Given the description of an element on the screen output the (x, y) to click on. 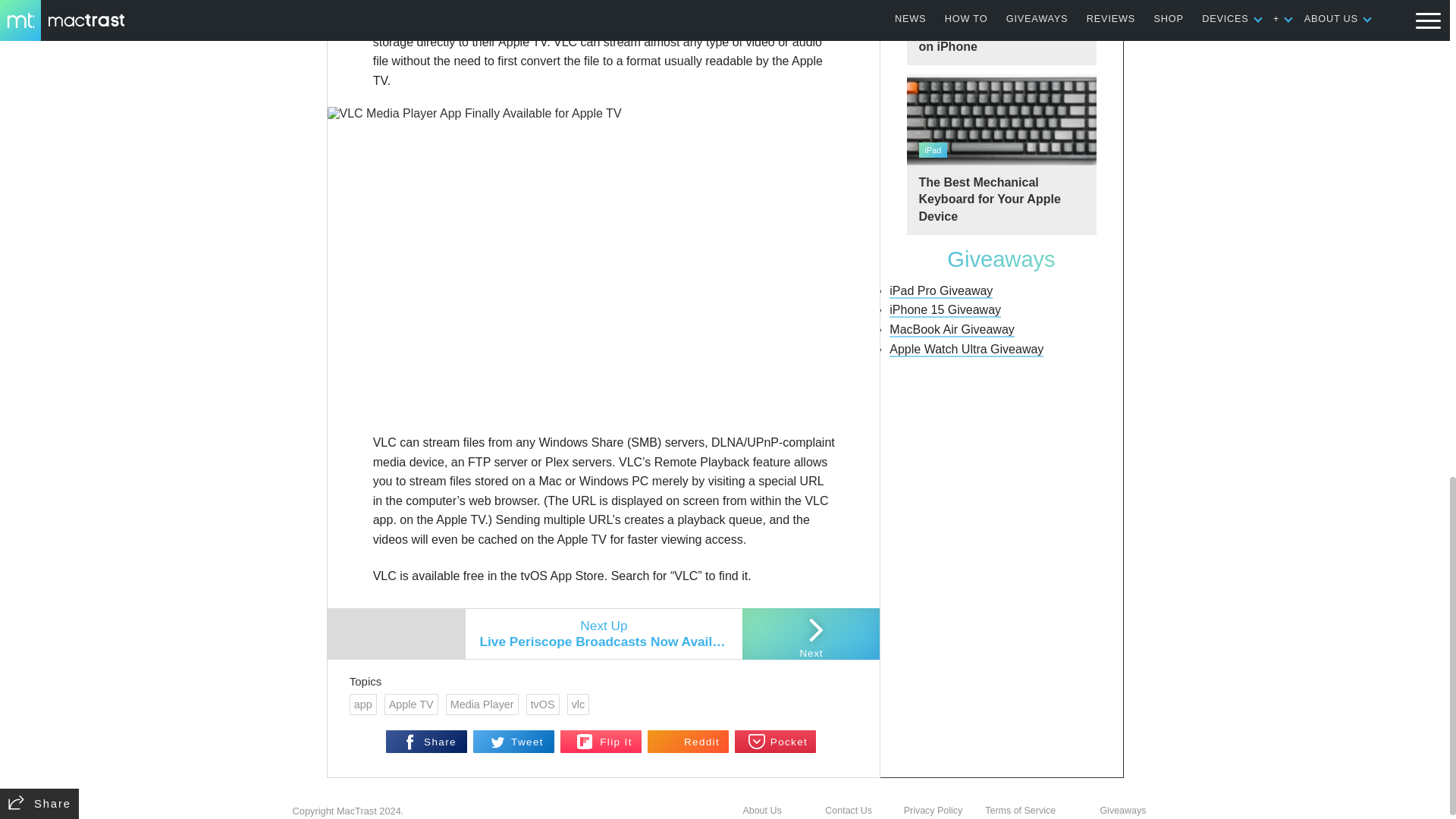
Tweet (513, 741)
Share on Facebook (426, 741)
Share on Reddit (688, 741)
